Given the description of an element on the screen output the (x, y) to click on. 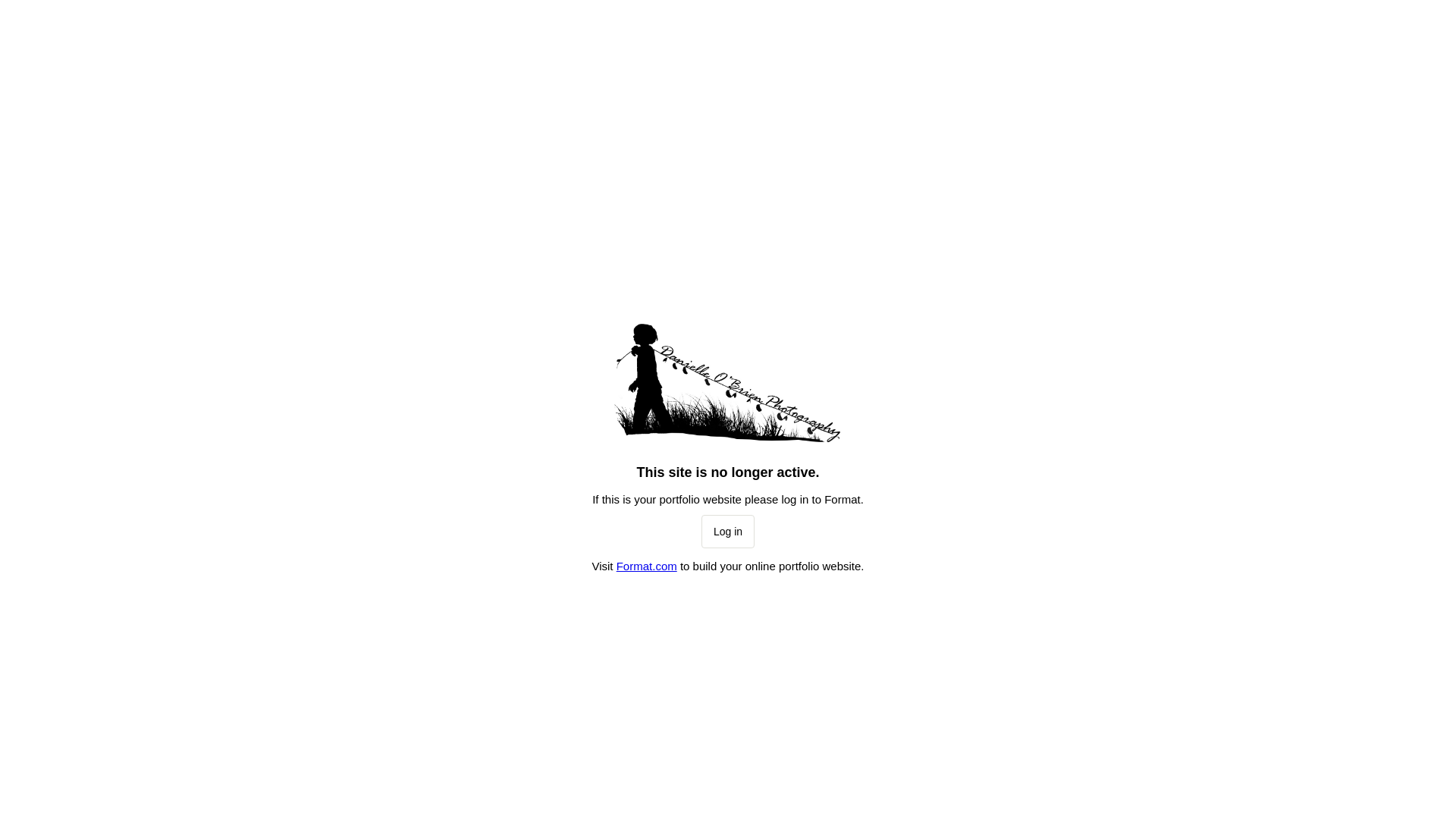
Format.com Element type: text (646, 565)
Log in Element type: text (727, 531)
